Given the description of an element on the screen output the (x, y) to click on. 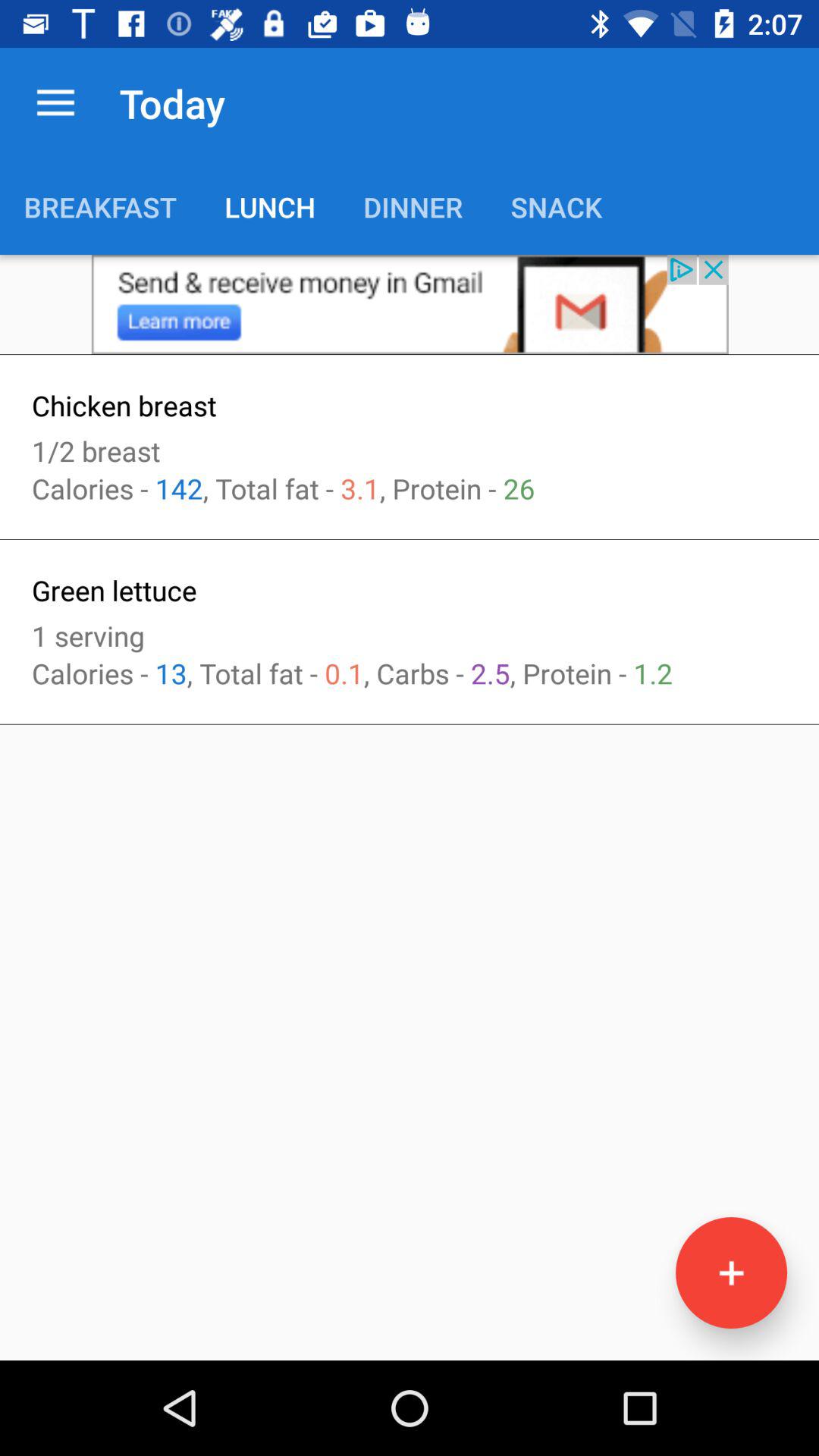
inbox to seen (409, 304)
